Given the description of an element on the screen output the (x, y) to click on. 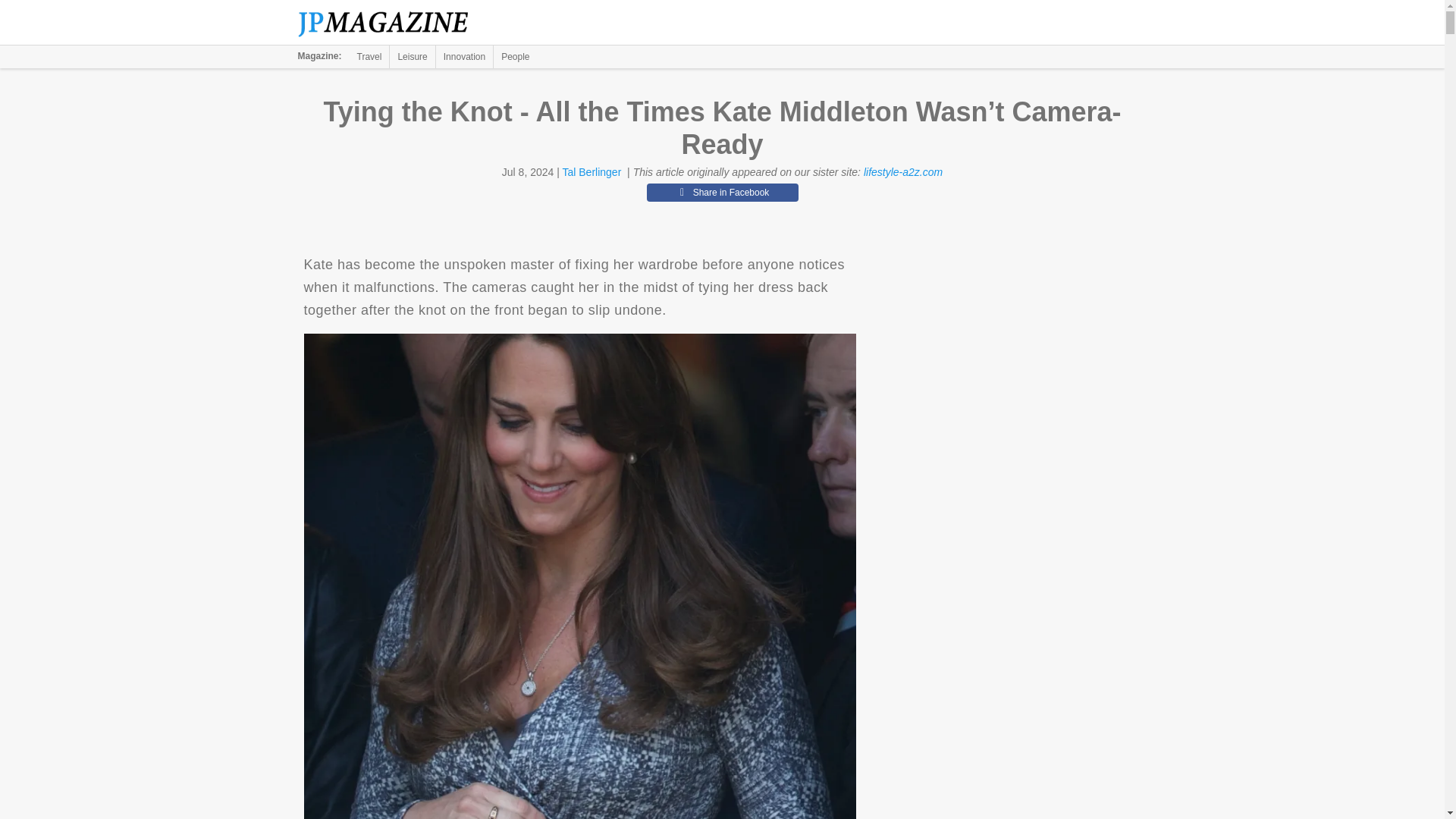
lifestyle-a2z.com (902, 172)
Leisure (411, 56)
The Jerusalem Post Magazine (391, 22)
Travel (369, 56)
People (515, 56)
Share in Facebook (721, 192)
Tal Berlinger (591, 172)
Innovation (464, 56)
